Given the description of an element on the screen output the (x, y) to click on. 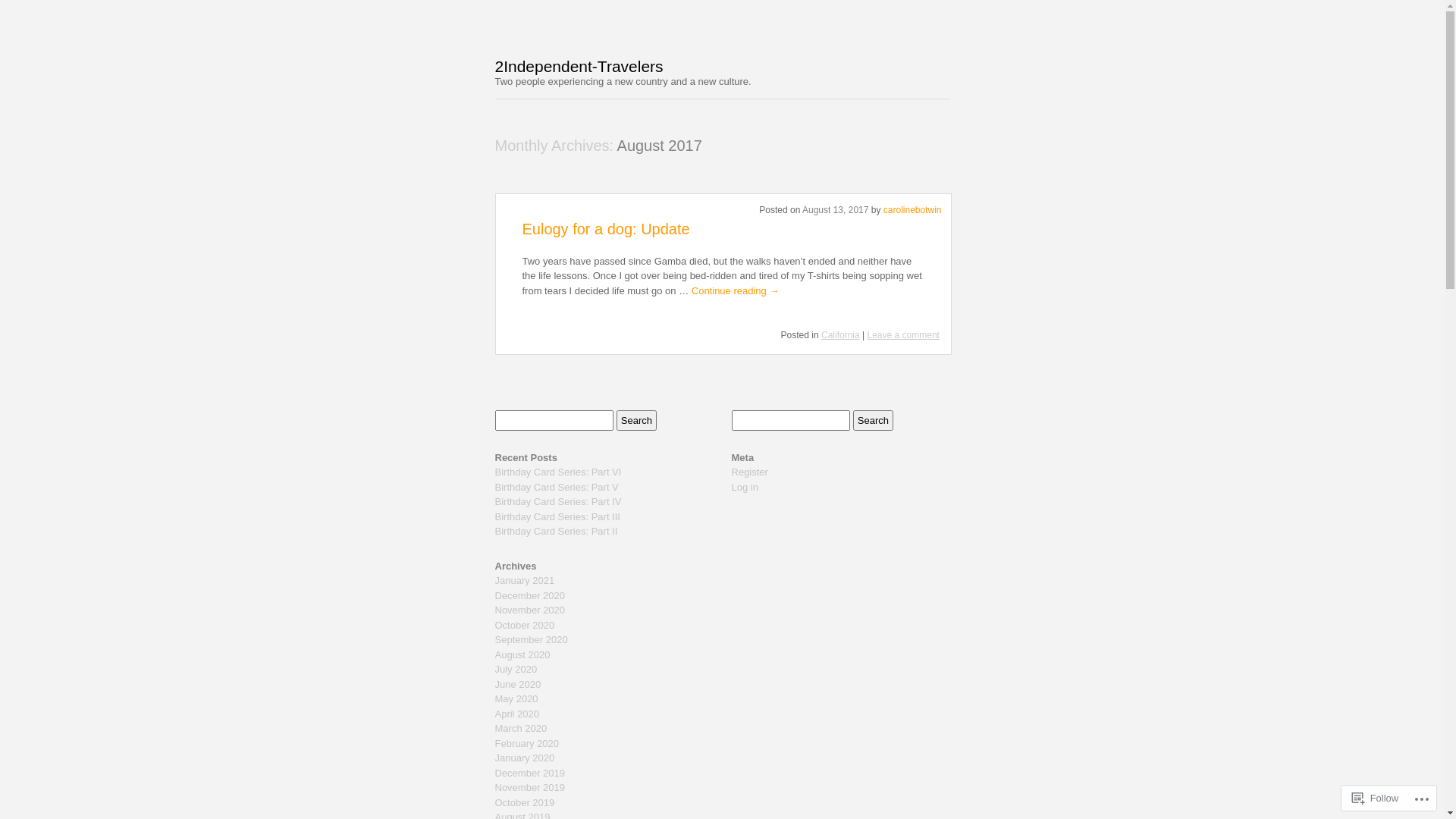
carolinebotwin Element type: text (912, 209)
October 2020 Element type: text (524, 624)
Birthday Card Series: Part VI Element type: text (557, 471)
August 13, 2017 Element type: text (835, 209)
April 2020 Element type: text (516, 713)
Birthday Card Series: Part V Element type: text (556, 486)
2Independent-Travelers Element type: text (578, 66)
Follow Element type: text (1375, 797)
January 2020 Element type: text (524, 757)
November 2019 Element type: text (529, 787)
March 2020 Element type: text (520, 728)
Leave a comment Element type: text (903, 334)
California Element type: text (840, 334)
Birthday Card Series: Part IV Element type: text (557, 501)
Eulogy for a dog: Update Element type: text (605, 228)
August 2020 Element type: text (521, 654)
June 2020 Element type: text (517, 684)
Log in Element type: text (744, 486)
December 2019 Element type: text (529, 772)
November 2020 Element type: text (529, 609)
Birthday Card Series: Part III Element type: text (556, 516)
December 2020 Element type: text (529, 595)
Search Element type: text (636, 420)
February 2020 Element type: text (526, 743)
July 2020 Element type: text (515, 668)
Register Element type: text (749, 471)
September 2020 Element type: text (530, 639)
Search Element type: text (873, 420)
May 2020 Element type: text (515, 698)
Birthday Card Series: Part II Element type: text (555, 530)
January 2021 Element type: text (524, 580)
October 2019 Element type: text (524, 802)
